Given the description of an element on the screen output the (x, y) to click on. 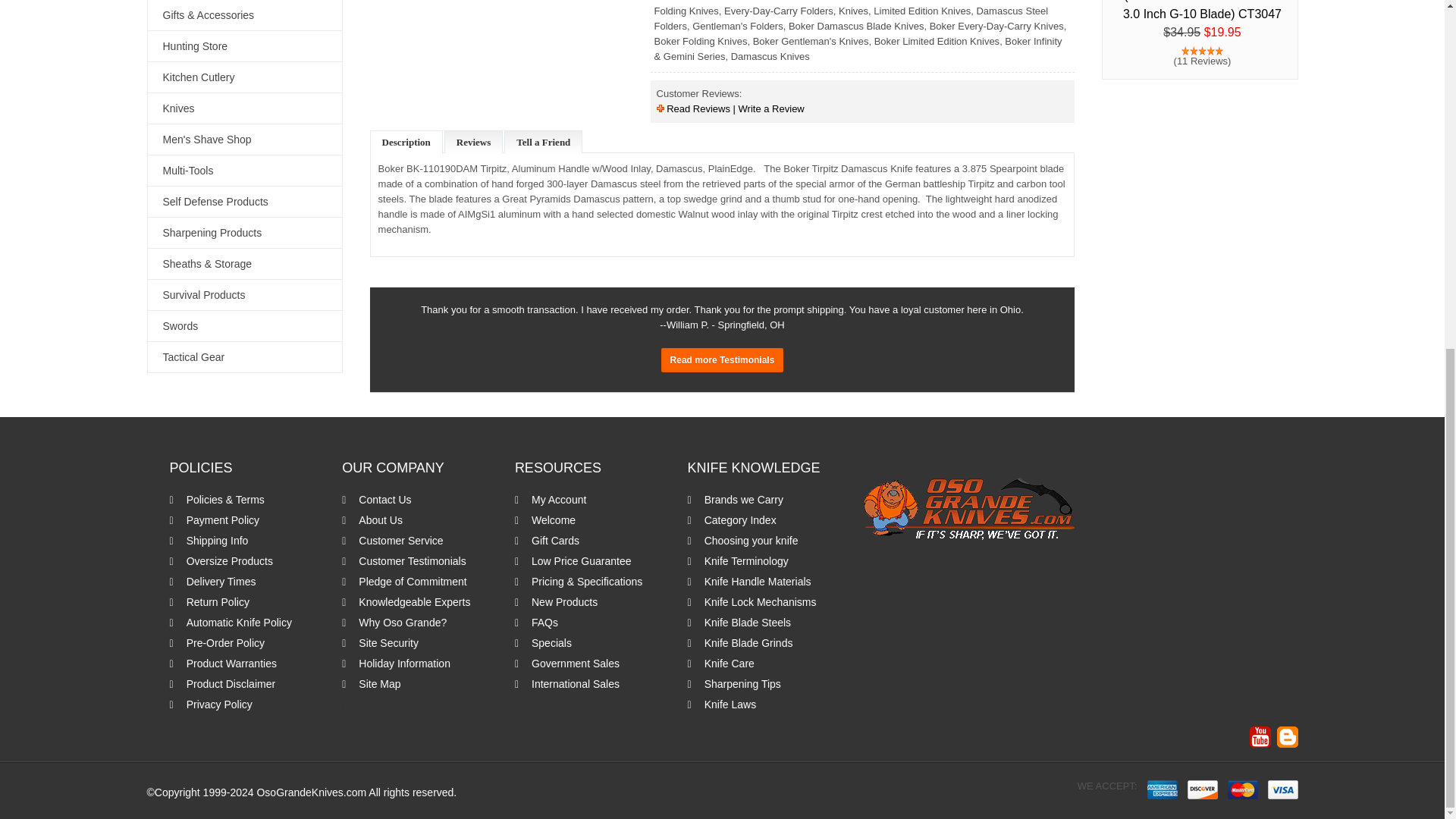
American Express (1161, 789)
OsoGrandeKnives Knife Blog (1287, 736)
Visa (1283, 789)
Discover (1202, 789)
MasterCard (1242, 789)
